Given the description of an element on the screen output the (x, y) to click on. 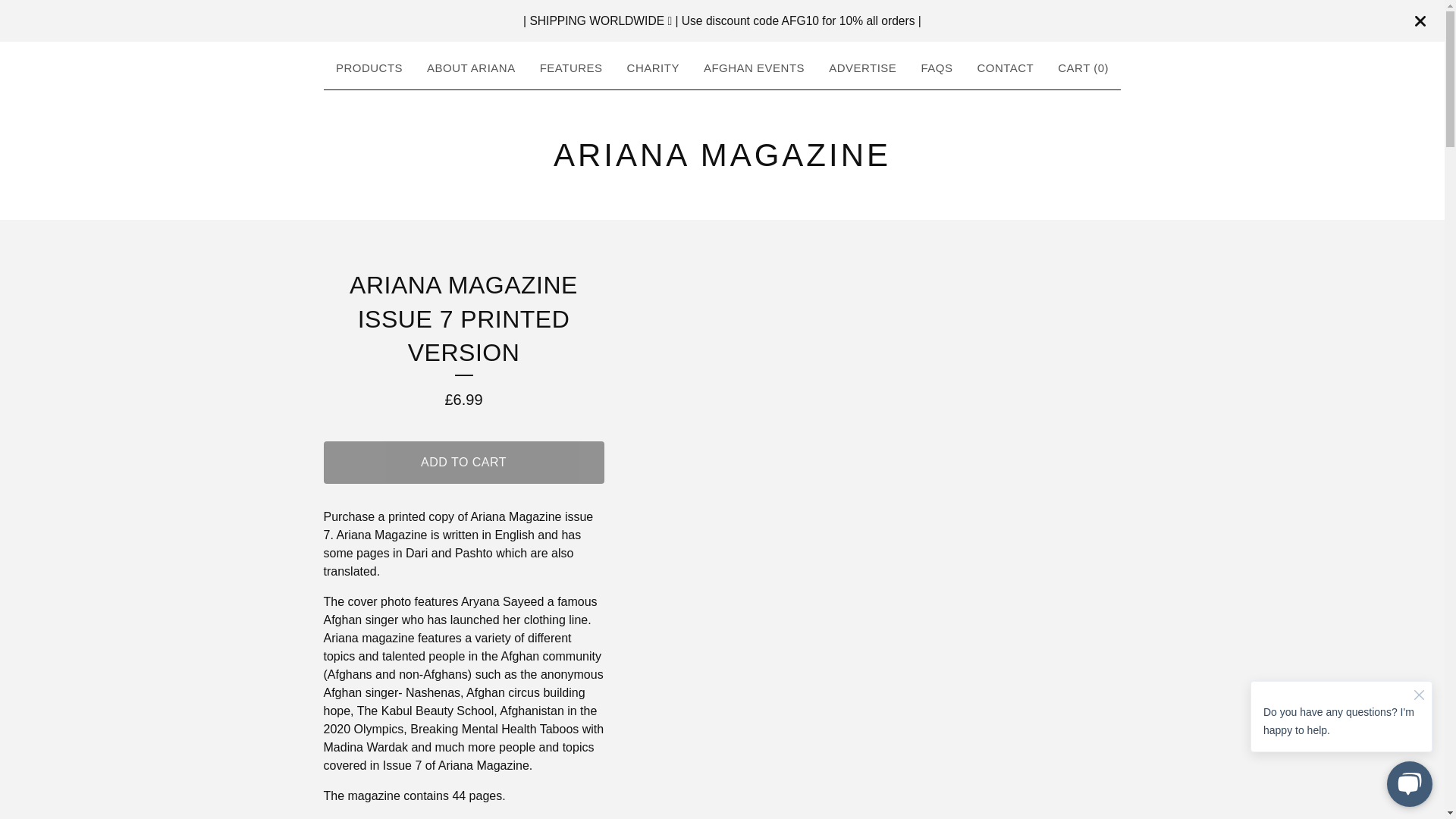
ARIANA MAGAZINE (722, 155)
Home (722, 155)
ADVERTISE (862, 68)
ABOUT ARIANA (470, 68)
Close announcement message (1419, 21)
AFGHAN EVENTS (753, 68)
View FAQs (936, 68)
ADD TO CART (463, 462)
View Charity (653, 68)
FEATURES (571, 68)
FAQS (936, 68)
View About Ariana (470, 68)
CONTACT (1005, 68)
CHARITY (653, 68)
View Afghan Events (753, 68)
